Given the description of an element on the screen output the (x, y) to click on. 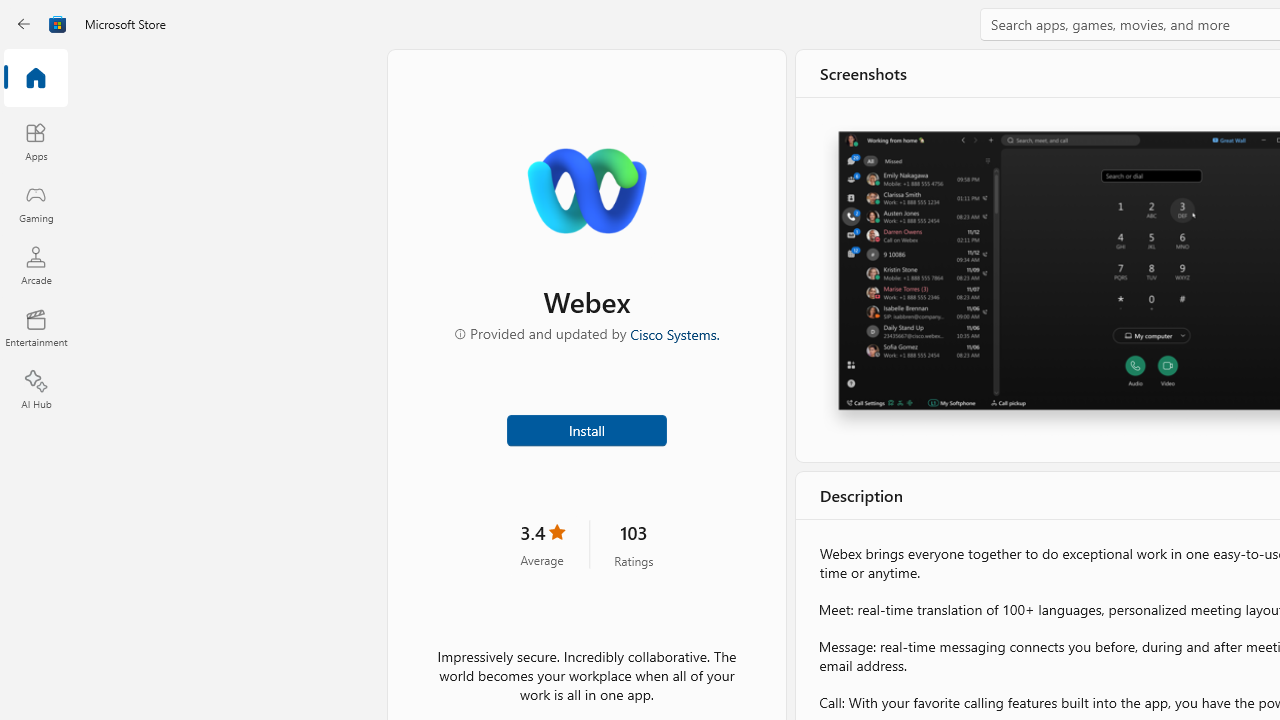
Apps (35, 141)
Back (24, 24)
Gaming (35, 203)
Entertainment (35, 327)
3.4 stars. Click to skip to ratings and reviews (542, 543)
AI Hub (35, 390)
Home (35, 79)
Install (586, 428)
Arcade (35, 265)
Cisco Systems. (674, 333)
Class: Image (58, 24)
